Given the description of an element on the screen output the (x, y) to click on. 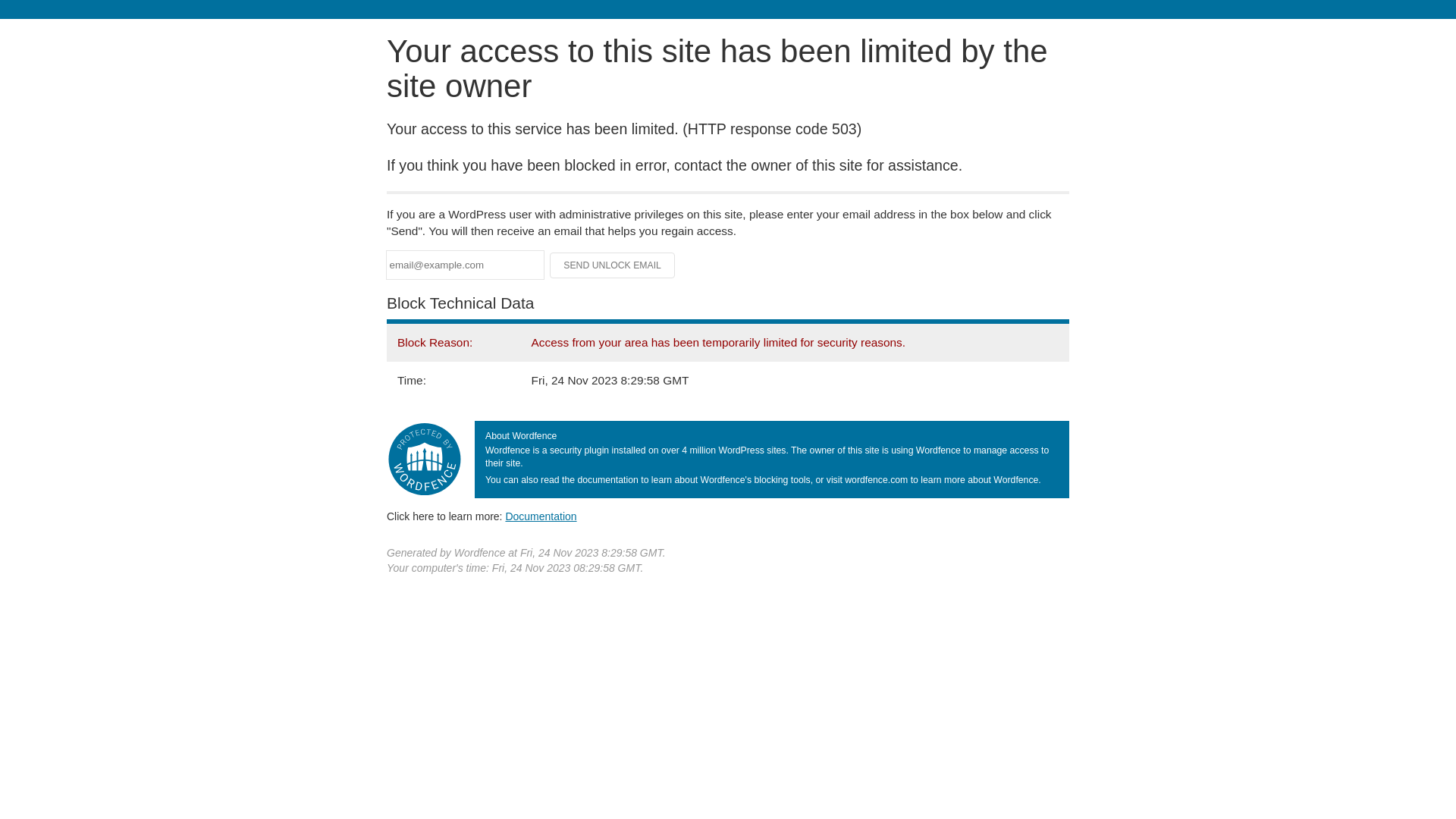
Documentation Element type: text (540, 516)
Send Unlock Email Element type: text (612, 265)
